Given the description of an element on the screen output the (x, y) to click on. 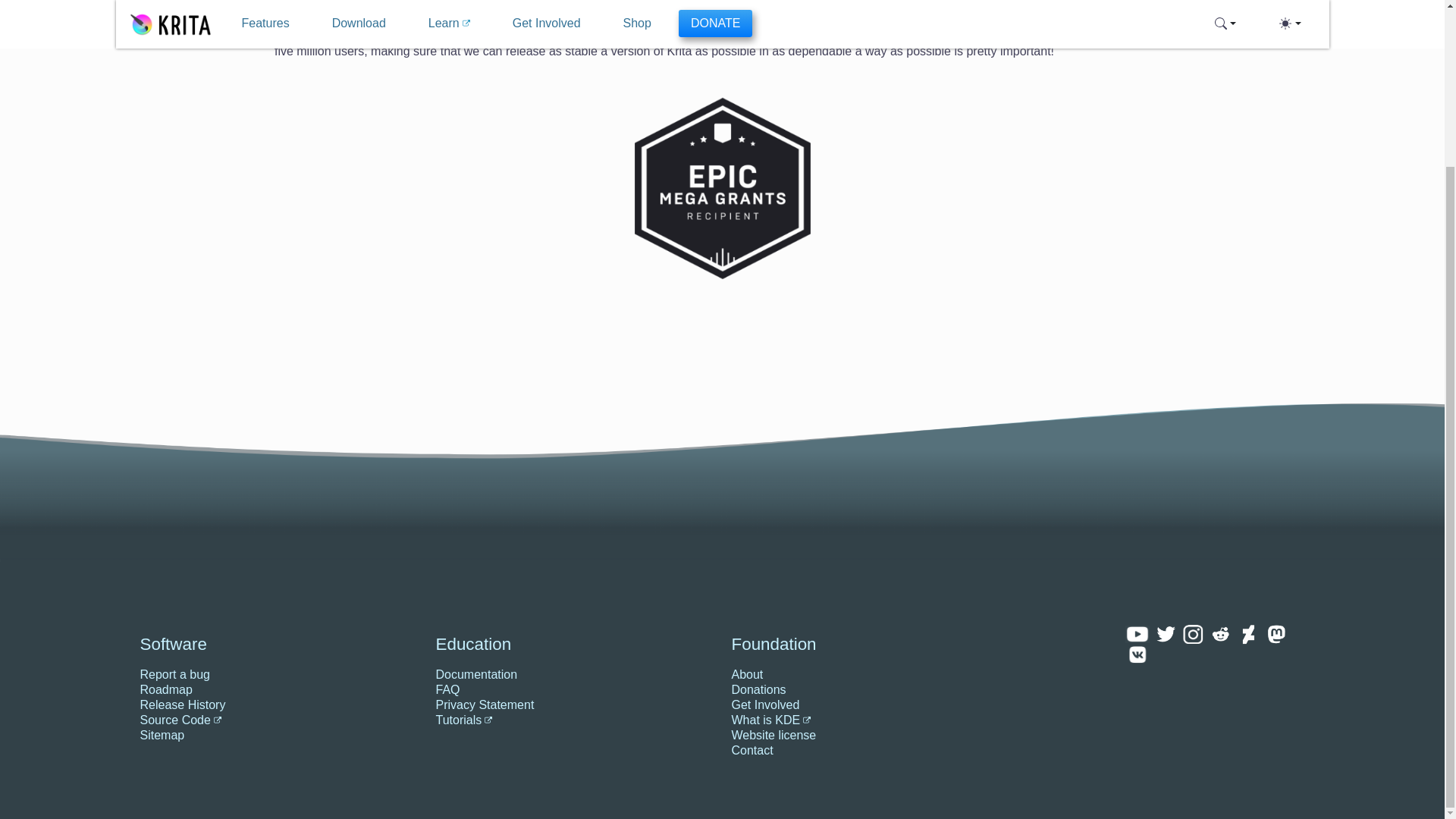
Sitemap (277, 735)
Roadmap (277, 689)
FAQ (574, 689)
Website license (918, 735)
Donations (918, 689)
Report a bug (277, 674)
What is KDE (918, 720)
Documentation (574, 674)
Get Involved (918, 704)
started on (859, 35)
